Given the description of an element on the screen output the (x, y) to click on. 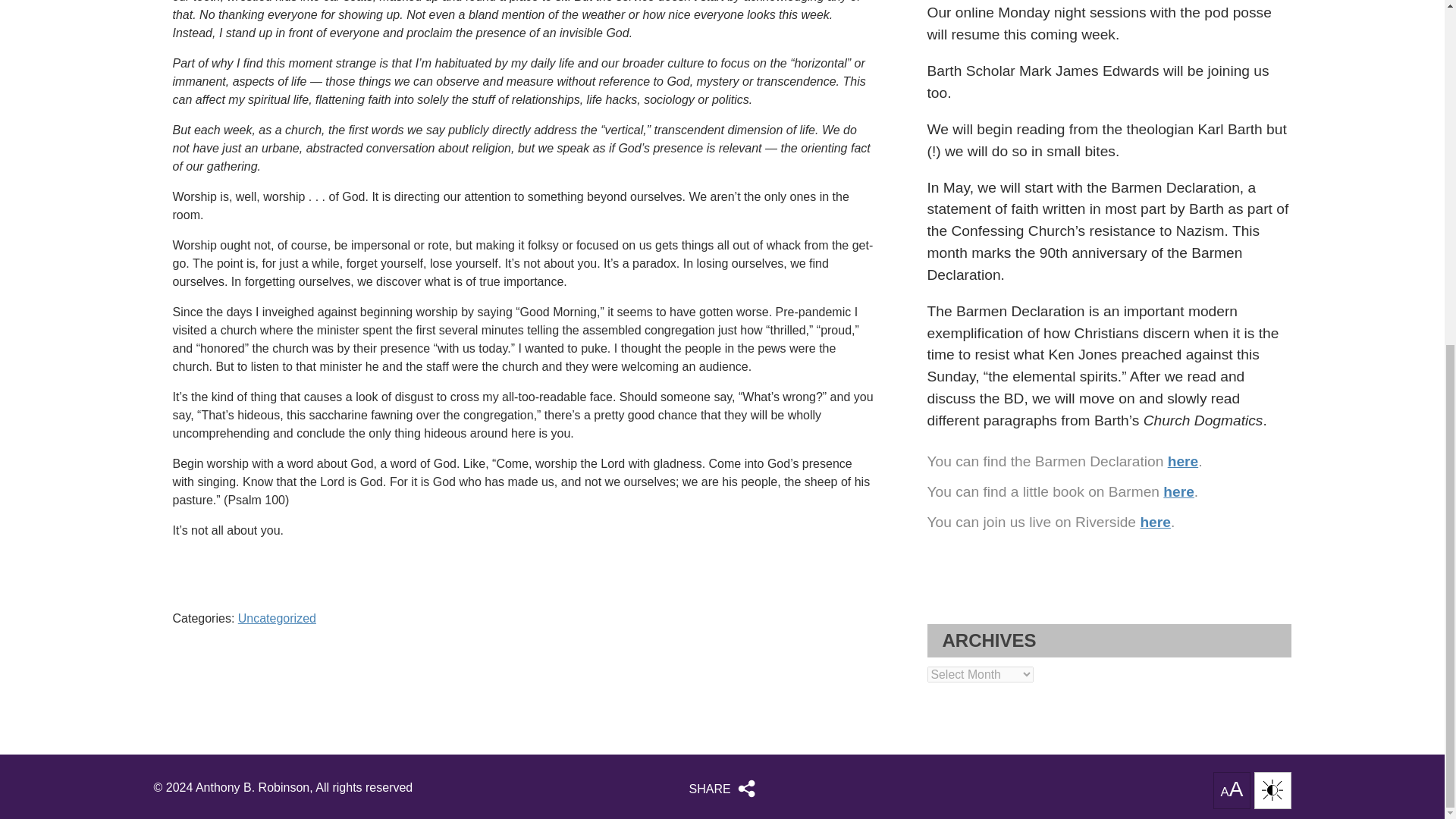
Uncategorized (276, 617)
here (1182, 461)
here (1178, 491)
here (1155, 521)
High Contrast: White Background with Black Text (1272, 790)
